Given the description of an element on the screen output the (x, y) to click on. 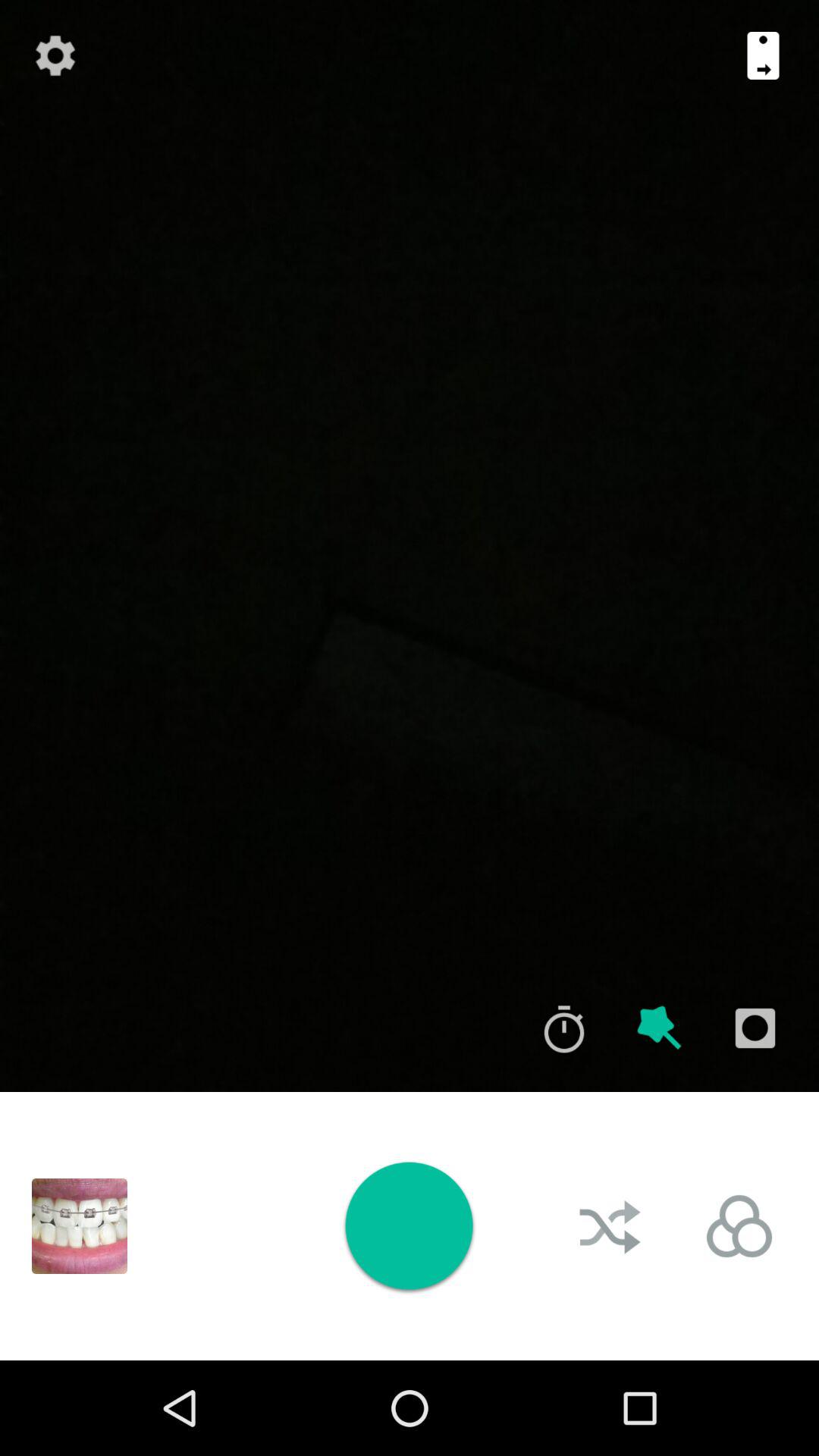
open image (79, 1226)
